Given the description of an element on the screen output the (x, y) to click on. 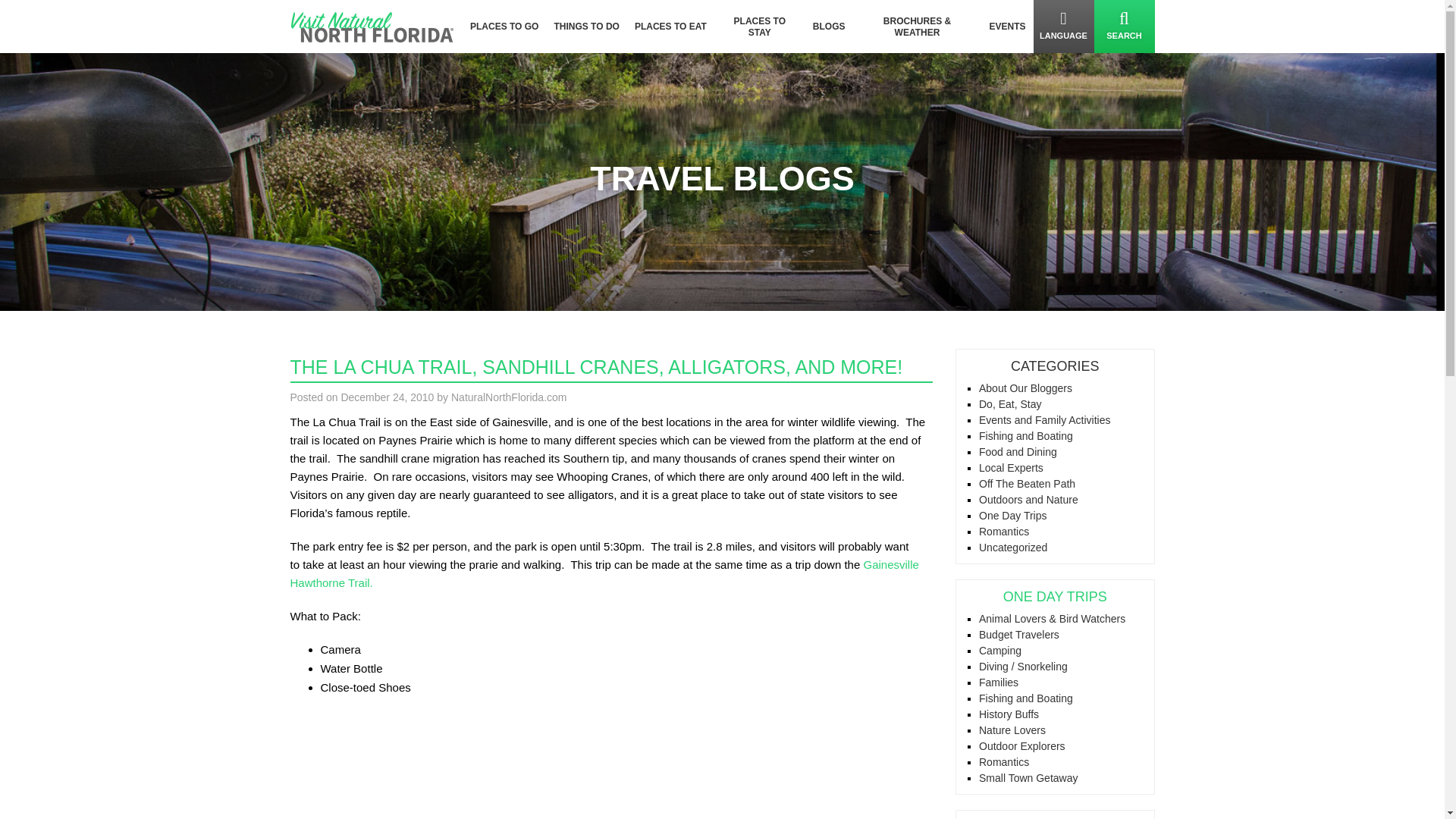
Blog (829, 26)
Places To Go (504, 26)
THINGS TO DO (586, 26)
Search (1123, 26)
Things To Do (586, 26)
EVENTS (1006, 26)
LANGUAGE (1062, 26)
BLOGS (829, 26)
Places To Stay (759, 26)
PLACES TO EAT (670, 26)
Places To Eat (670, 26)
Events (1006, 26)
PLACES TO GO (504, 26)
SEARCH (1123, 26)
PLACES TO STAY (759, 26)
